Given the description of an element on the screen output the (x, y) to click on. 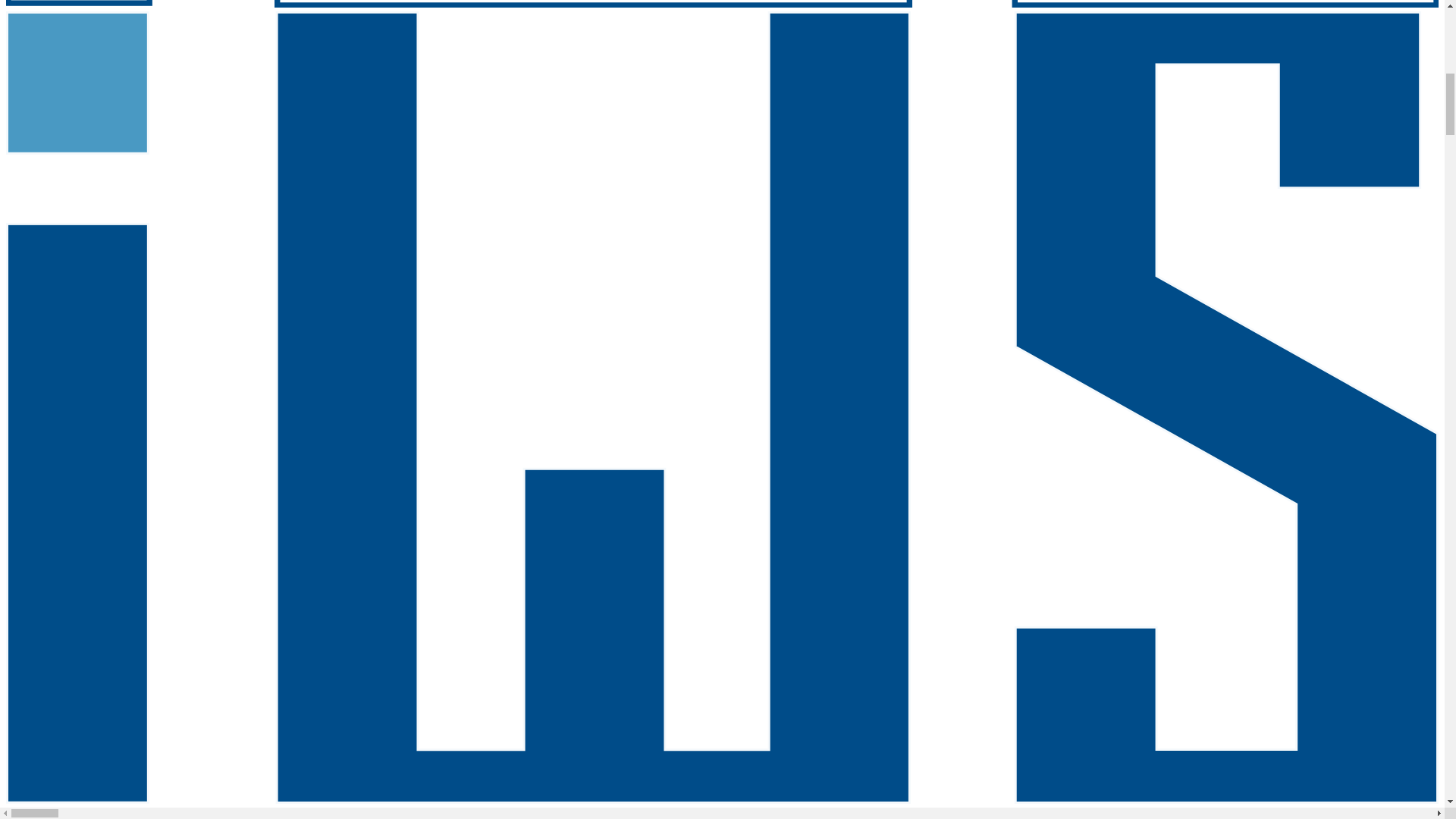
BG (14, 812)
Change your language to Bulgarian (14, 812)
